Given the description of an element on the screen output the (x, y) to click on. 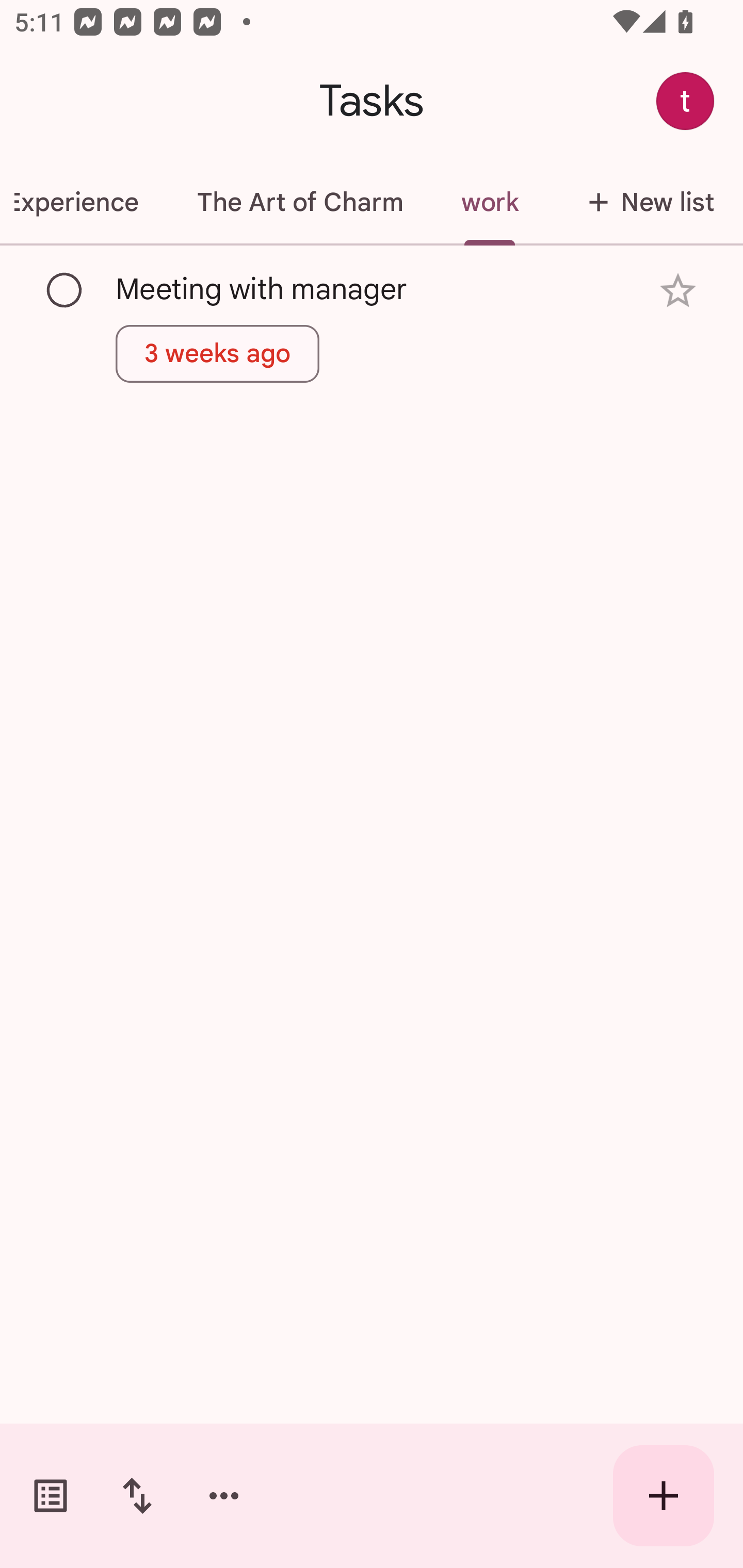
The Joe Rogan Experience (83, 202)
The Art of Charm (299, 202)
New list (645, 202)
Add star (677, 290)
Mark as complete (64, 290)
3 weeks ago (217, 353)
Switch task lists (50, 1495)
Create new task (663, 1495)
Change sort order (136, 1495)
More options (223, 1495)
